Given the description of an element on the screen output the (x, y) to click on. 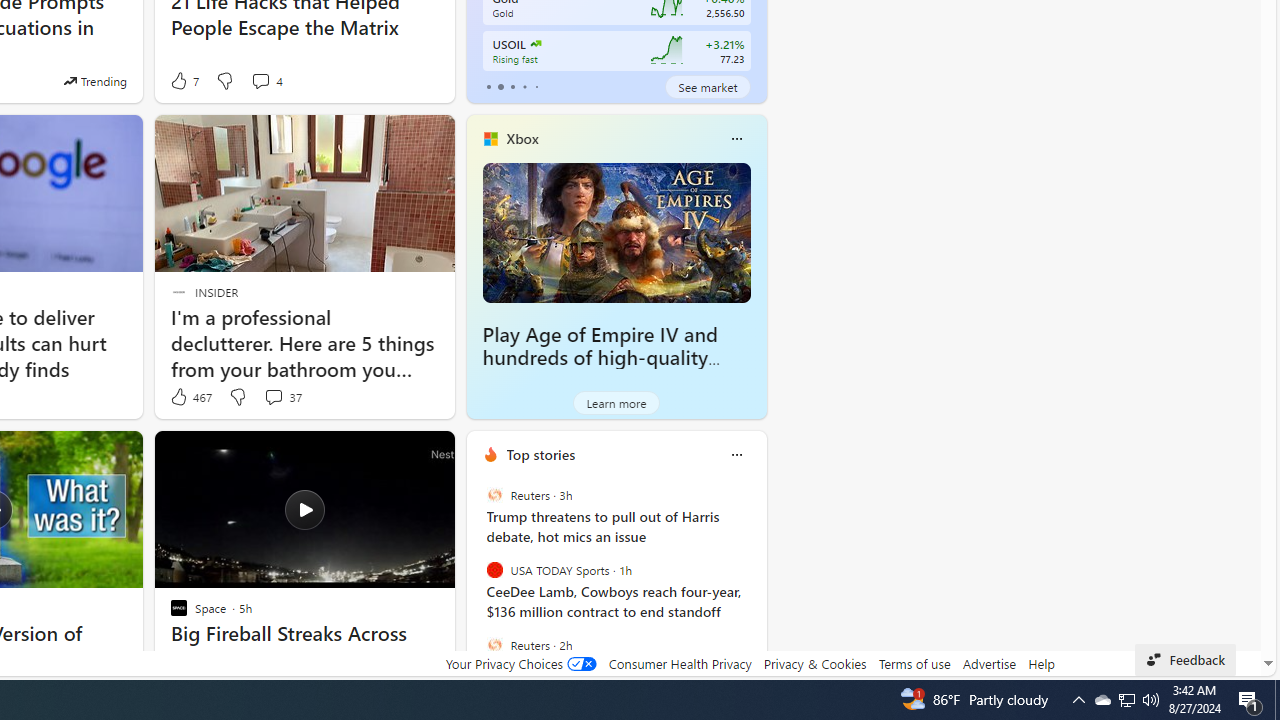
Class: icon-img (736, 454)
Hide this story (393, 454)
Advertise (989, 663)
View comments 4 Comment (265, 80)
467 Like (190, 397)
View comments 37 Comment (273, 396)
Terms of use (914, 663)
